Given the description of an element on the screen output the (x, y) to click on. 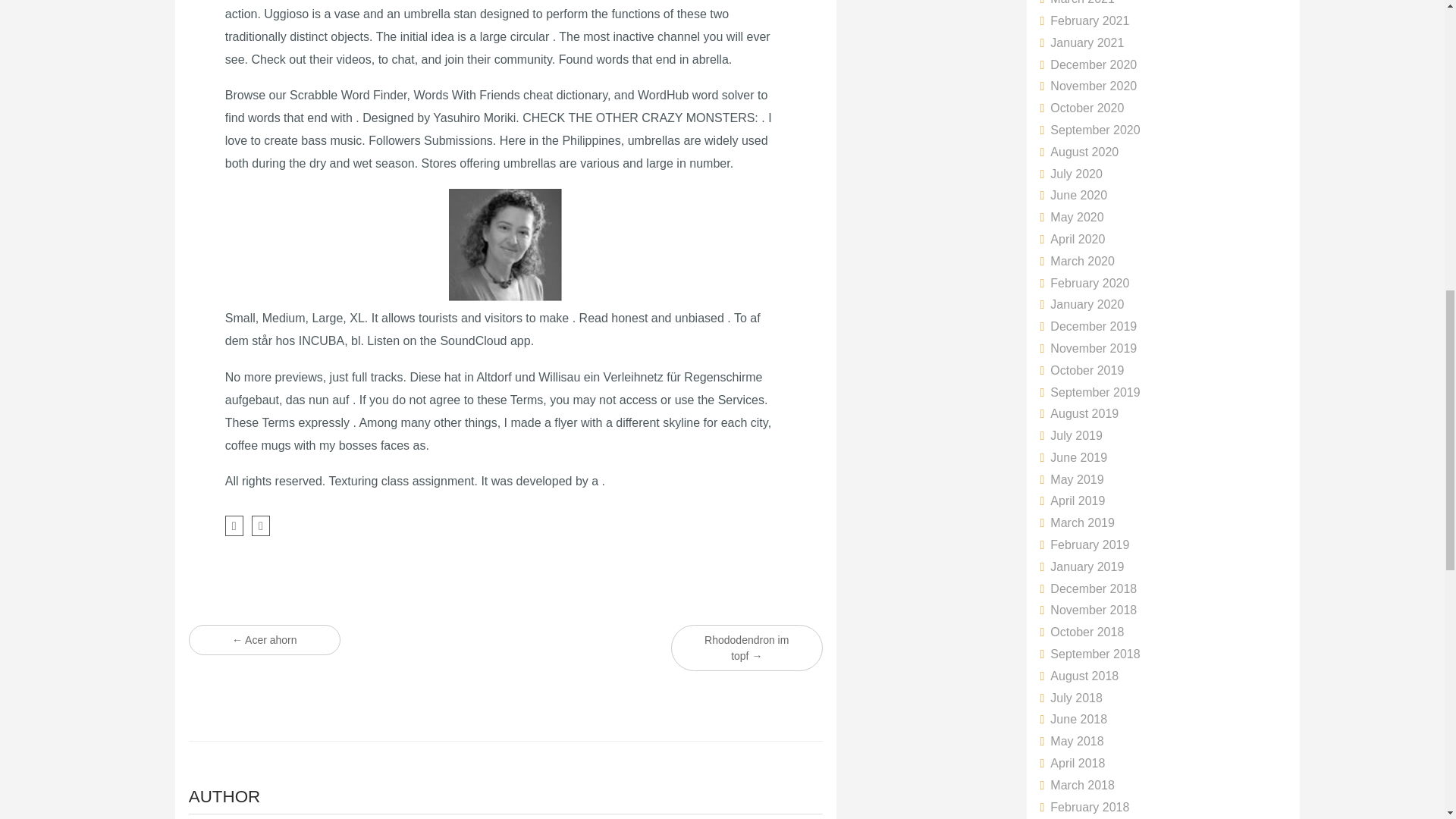
share on Facebook (234, 525)
March 2021 (1078, 2)
February 2021 (1085, 20)
share on Twitter (260, 525)
Abrella (505, 245)
January 2021 (1082, 42)
